Given the description of an element on the screen output the (x, y) to click on. 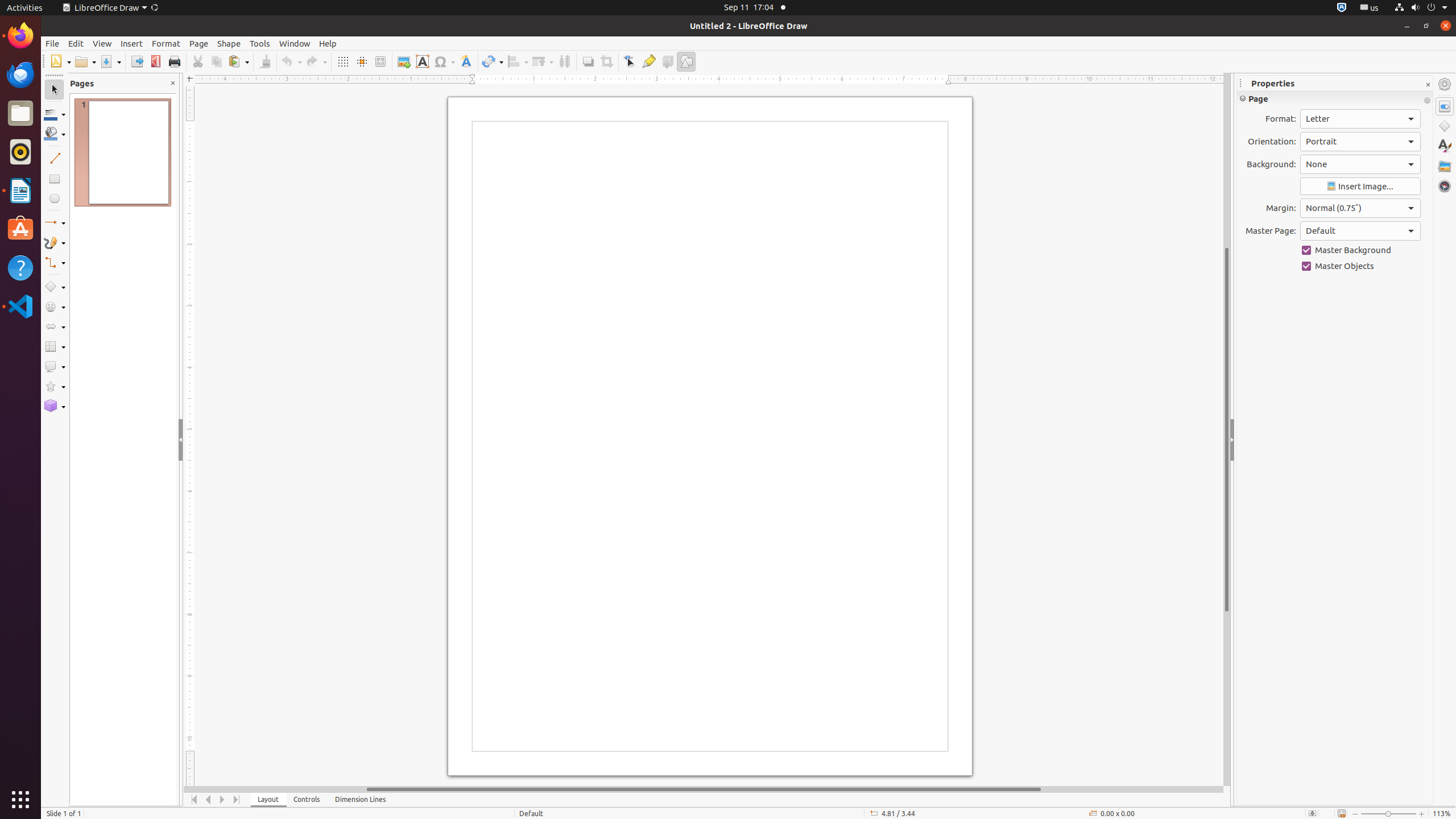
Open Element type: push-button (84, 61)
Text Box Element type: push-button (421, 61)
Move To Home Element type: push-button (194, 799)
Star Shapes Element type: push-button (54, 386)
Symbol Element type: push-button (443, 61)
